Given the description of an element on the screen output the (x, y) to click on. 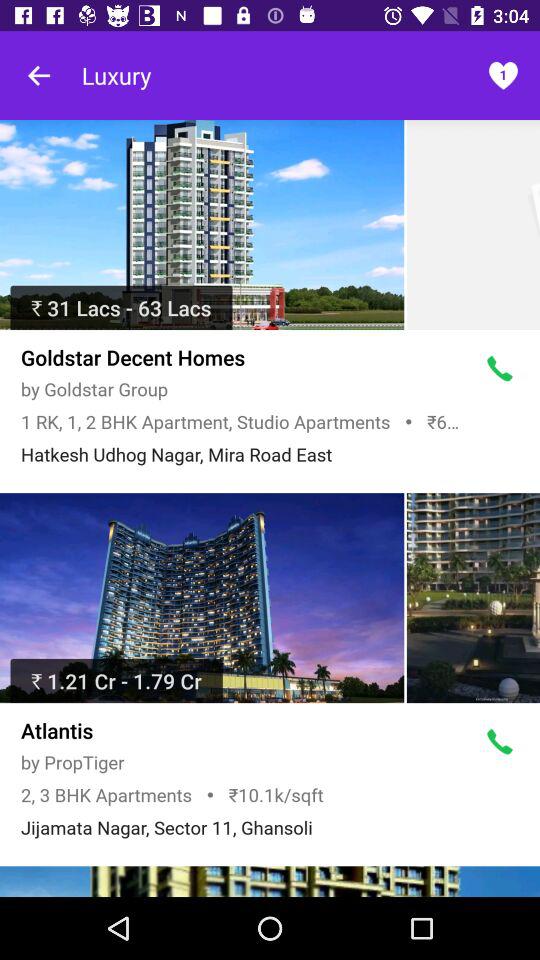
call business (500, 369)
